Given the description of an element on the screen output the (x, y) to click on. 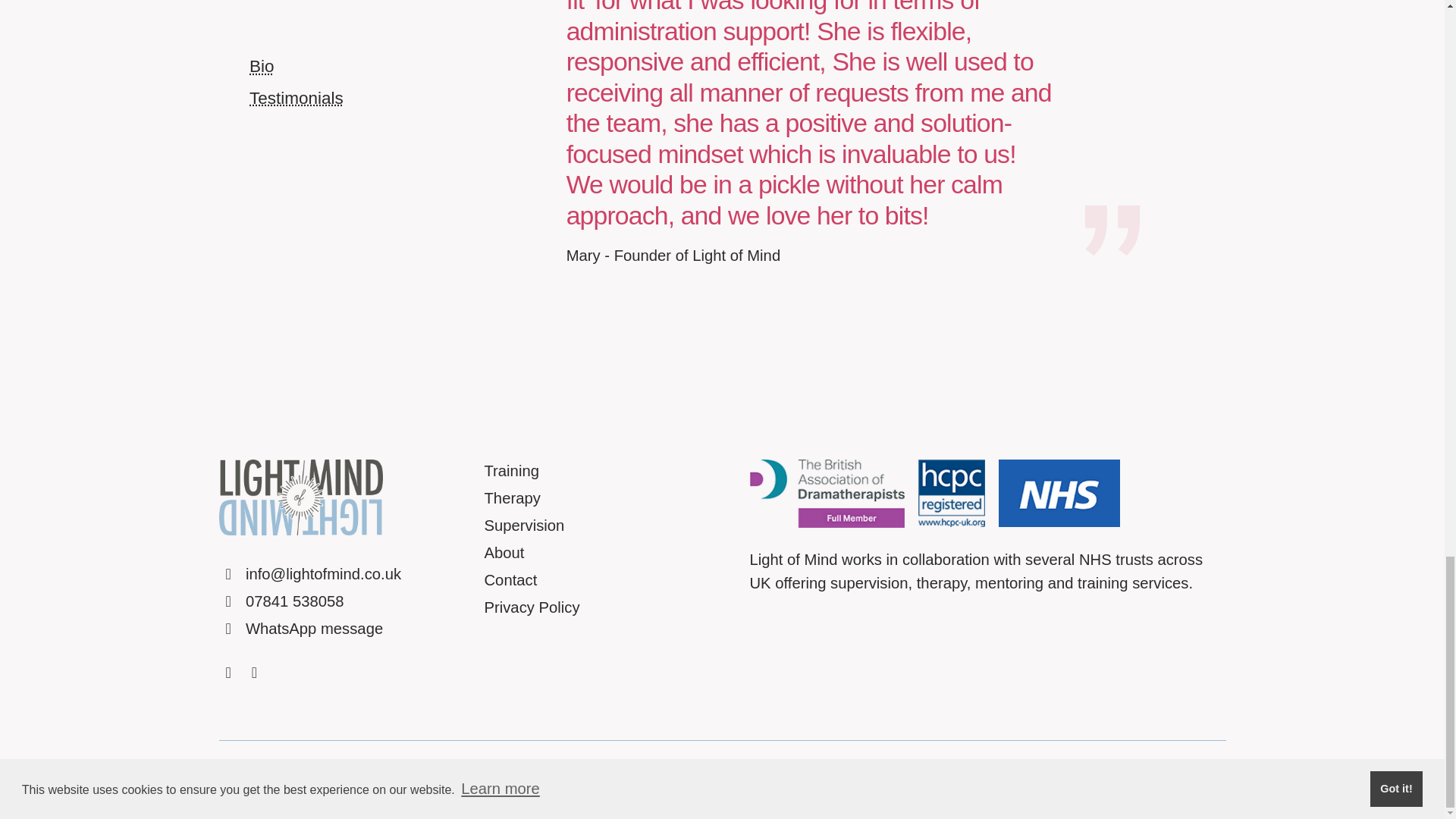
Supervision (523, 524)
WhatsApp message (300, 628)
Contact (510, 579)
Training (510, 470)
07841 538058 (280, 600)
Privacy Policy (531, 606)
About (503, 552)
Therapy (511, 497)
Made by Bridge. (274, 779)
